Given the description of an element on the screen output the (x, y) to click on. 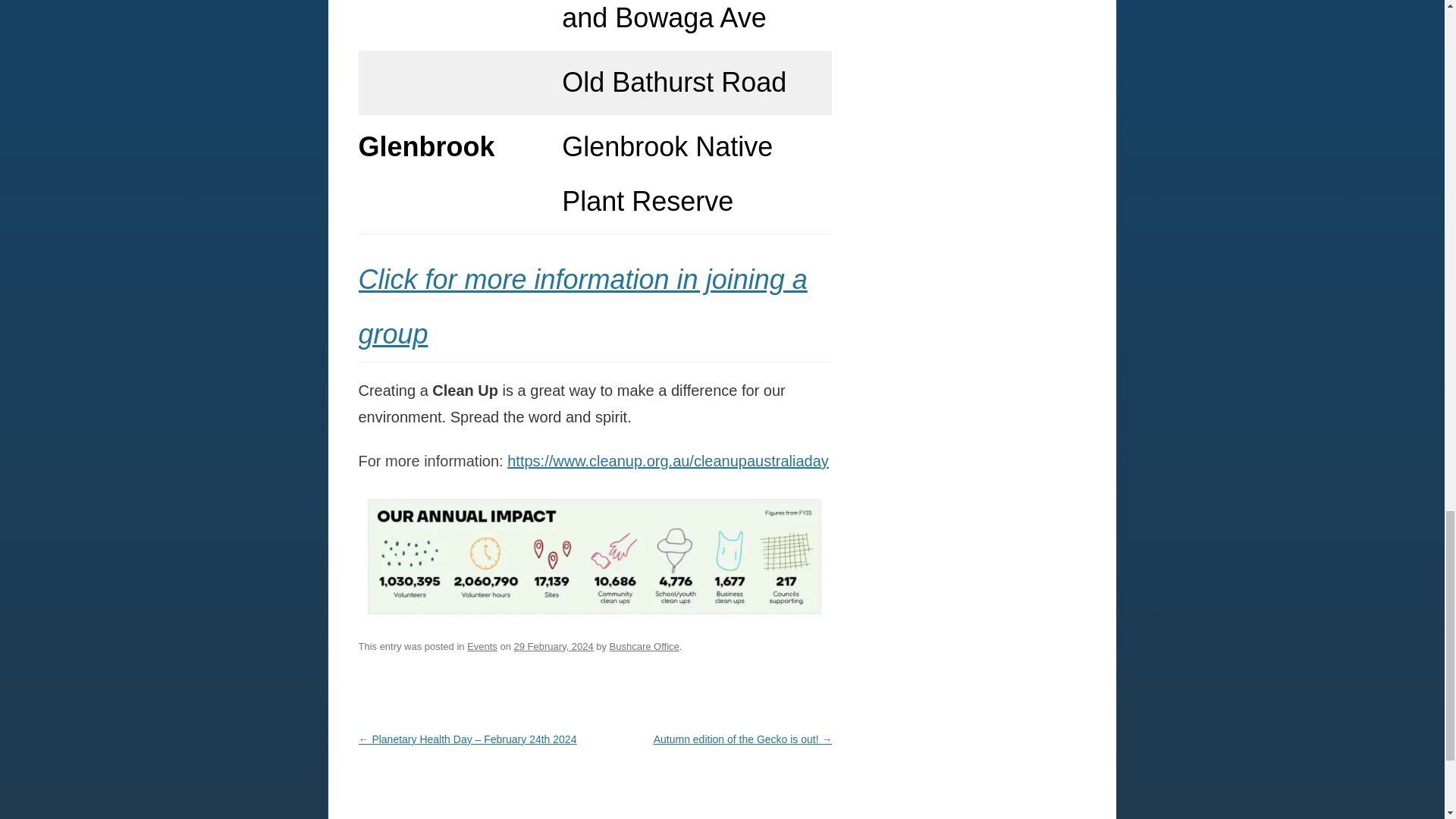
12:56 pm (553, 645)
29 February, 2024 (553, 645)
Click for more information in joining a group (582, 306)
Bushcare Office (644, 645)
View all posts by Bushcare Office (644, 645)
Events (482, 645)
